Given the description of an element on the screen output the (x, y) to click on. 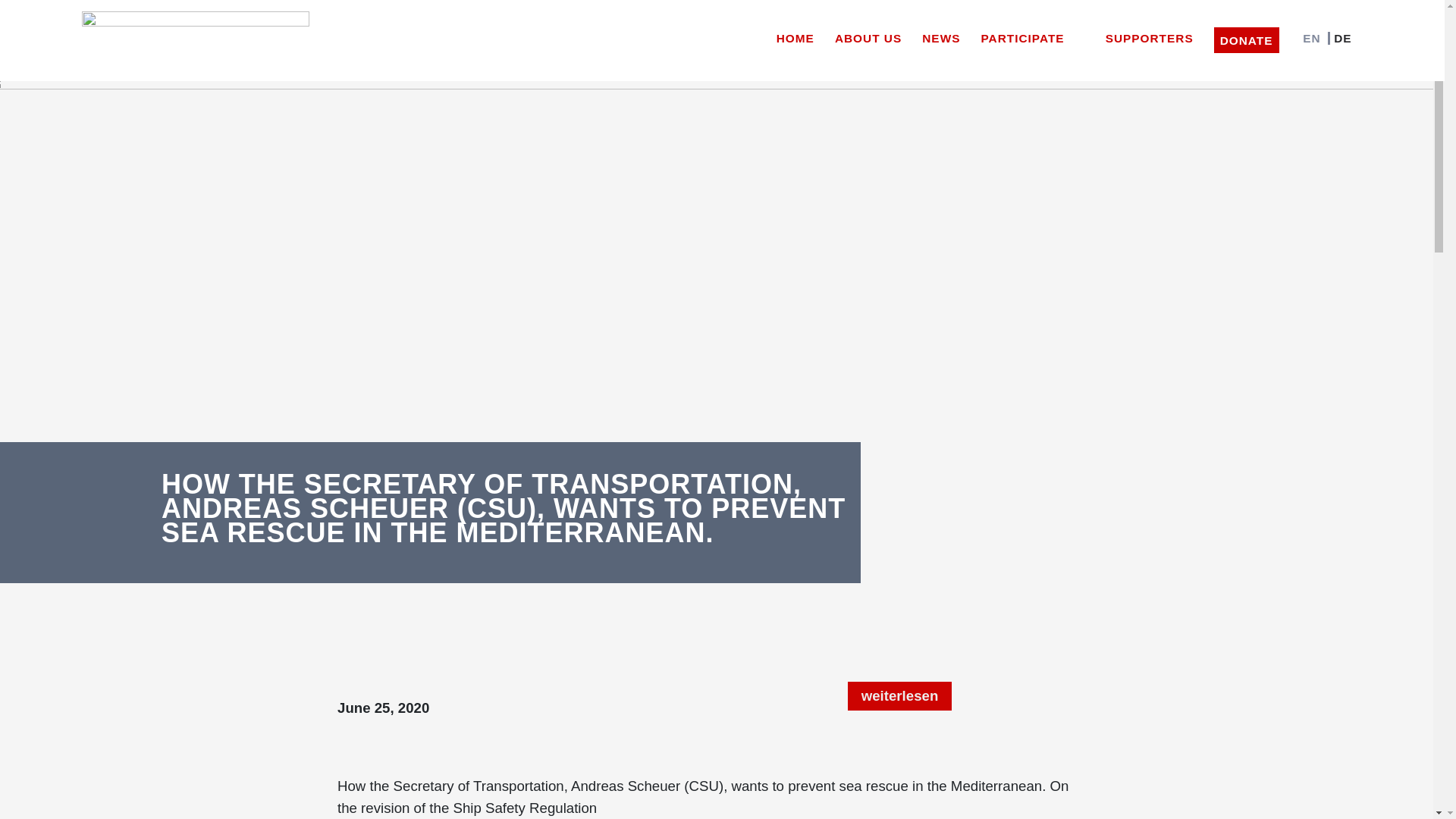
HOME (794, 35)
PARTICIPATE (1031, 35)
weiterlesen (899, 695)
SUPPORTERS (1149, 35)
ABOUT US (867, 35)
NEWS (940, 35)
DE (1338, 35)
DE (1338, 35)
DONATE (1246, 39)
